Given the description of an element on the screen output the (x, y) to click on. 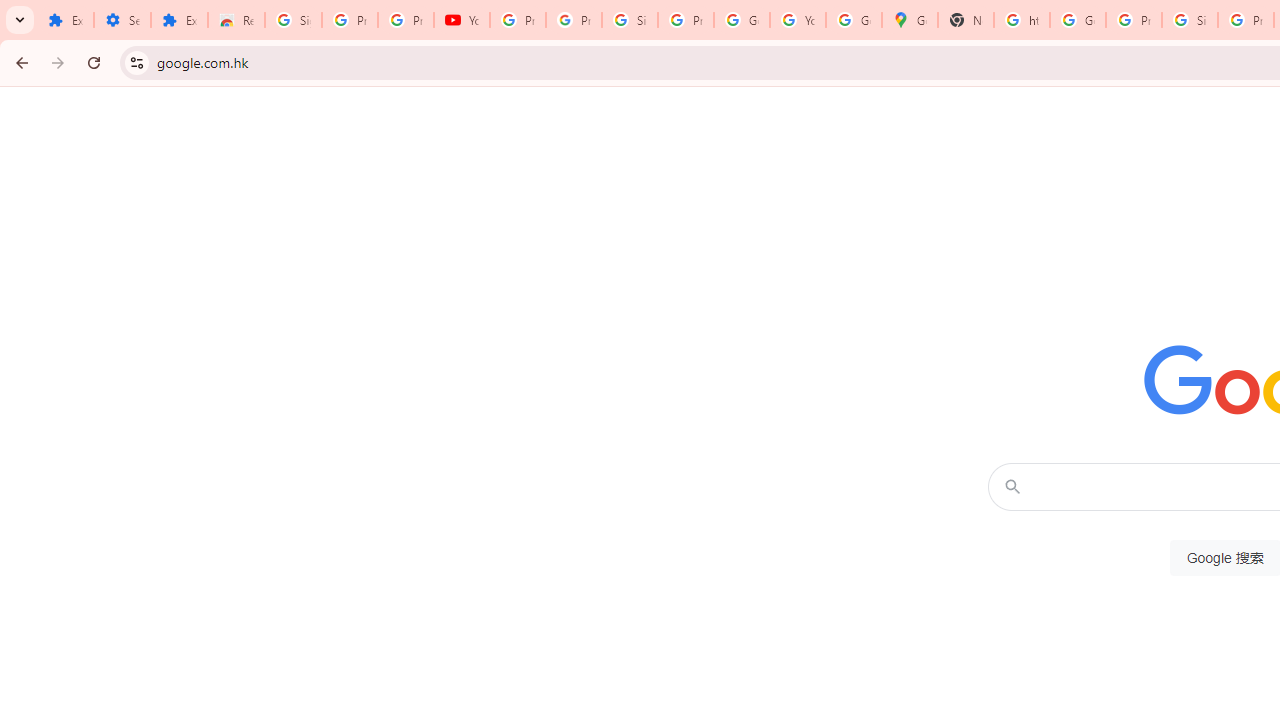
https://scholar.google.com/ (1021, 20)
Extensions (179, 20)
Reviews: Helix Fruit Jump Arcade Game (235, 20)
New Tab (966, 20)
